Given the description of an element on the screen output the (x, y) to click on. 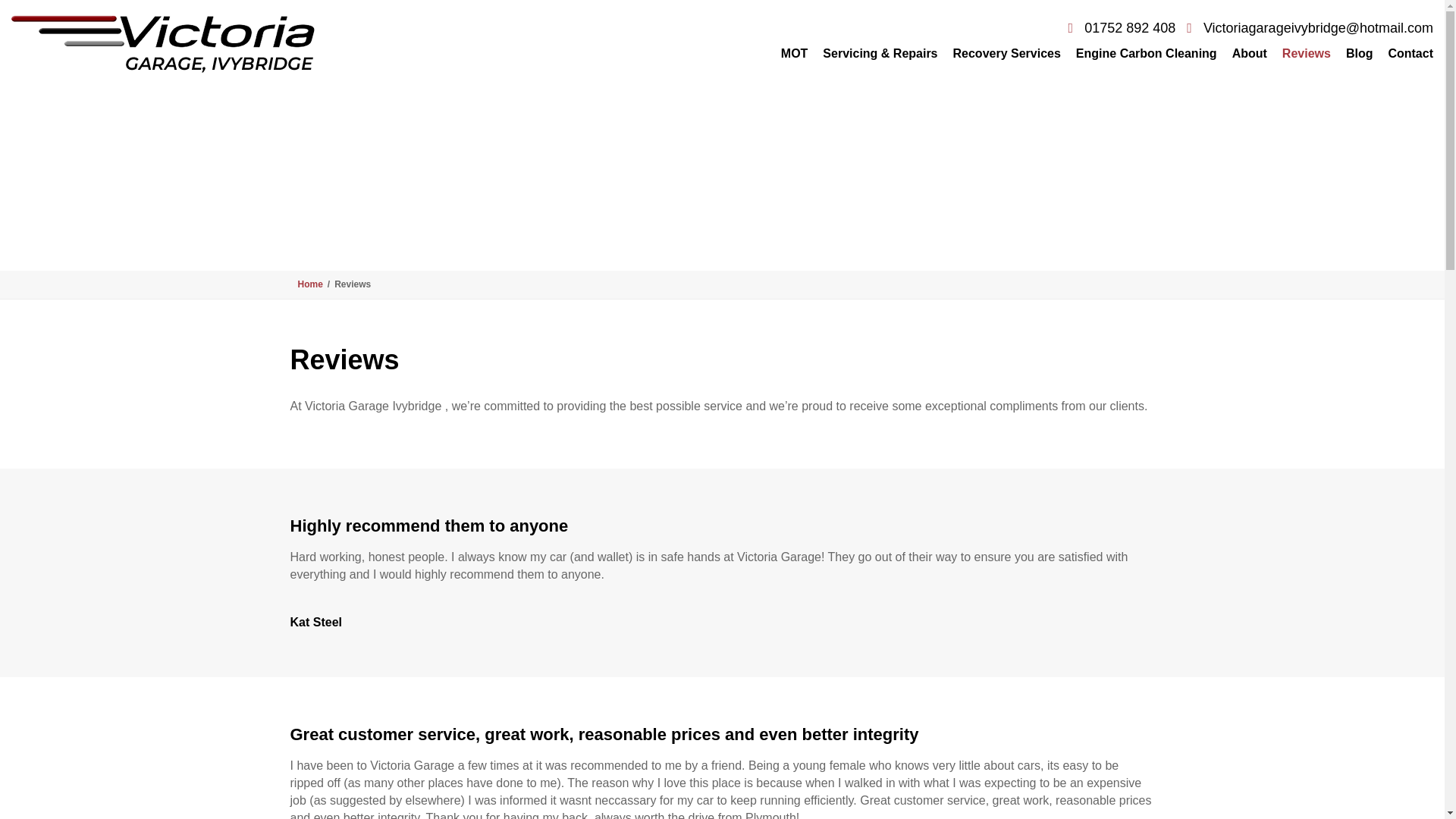
Reviews (1306, 53)
MOT (794, 53)
About (1249, 53)
Recovery Services (1006, 53)
MOT (794, 53)
Reviews (1306, 53)
Recovery Services (1006, 53)
Home (309, 284)
Engine Carbon Cleaning (1146, 53)
About (1249, 53)
Blog (1359, 53)
Engine Carbon Cleaning (1146, 53)
Blog (1359, 53)
Contact (1406, 53)
Contact (1406, 53)
